Given the description of an element on the screen output the (x, y) to click on. 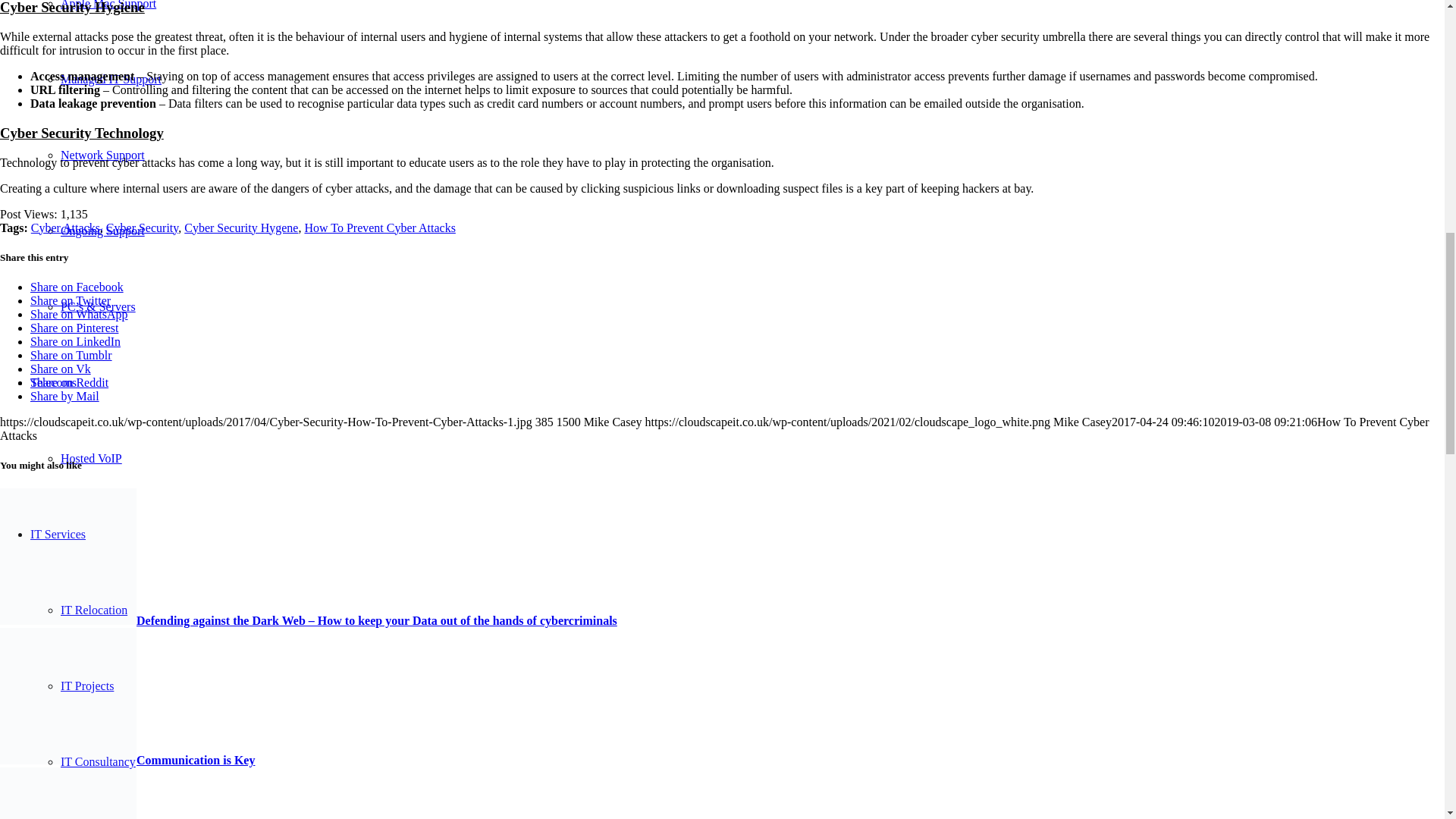
Share on Pinterest (73, 327)
Cyber Security Hygene (241, 227)
IT Consultancy (98, 761)
How To Prevent Cyber Attacks (379, 227)
Telecoms (53, 382)
Network Support (102, 154)
Cyber Attacks (65, 227)
Share on Facebook (76, 286)
Managed IT Support (111, 78)
Share on Twitter (70, 300)
Cyber Security (141, 227)
Hosted VoIP (91, 458)
IT Projects (87, 685)
IT Relocation (94, 609)
Apple Mac Support (108, 4)
